Given the description of an element on the screen output the (x, y) to click on. 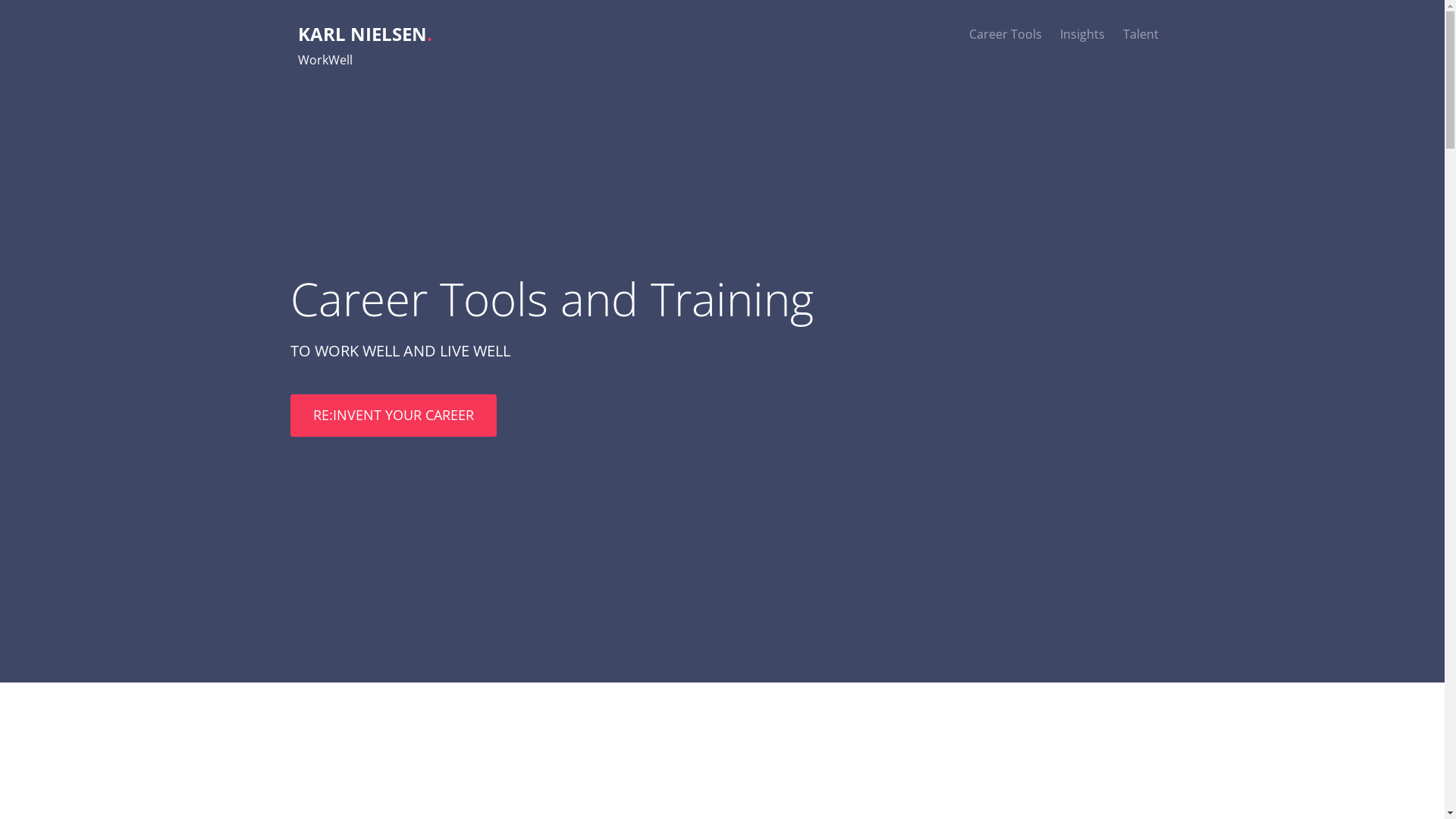
WorkWell Element type: text (324, 59)
Career Tools Element type: text (1005, 34)
Insights Element type: text (1082, 34)
RE:INVENT YOUR CAREER Element type: text (392, 415)
KARL NIELSEN. Element type: text (364, 33)
Talent Element type: text (1139, 34)
